Given the description of an element on the screen output the (x, y) to click on. 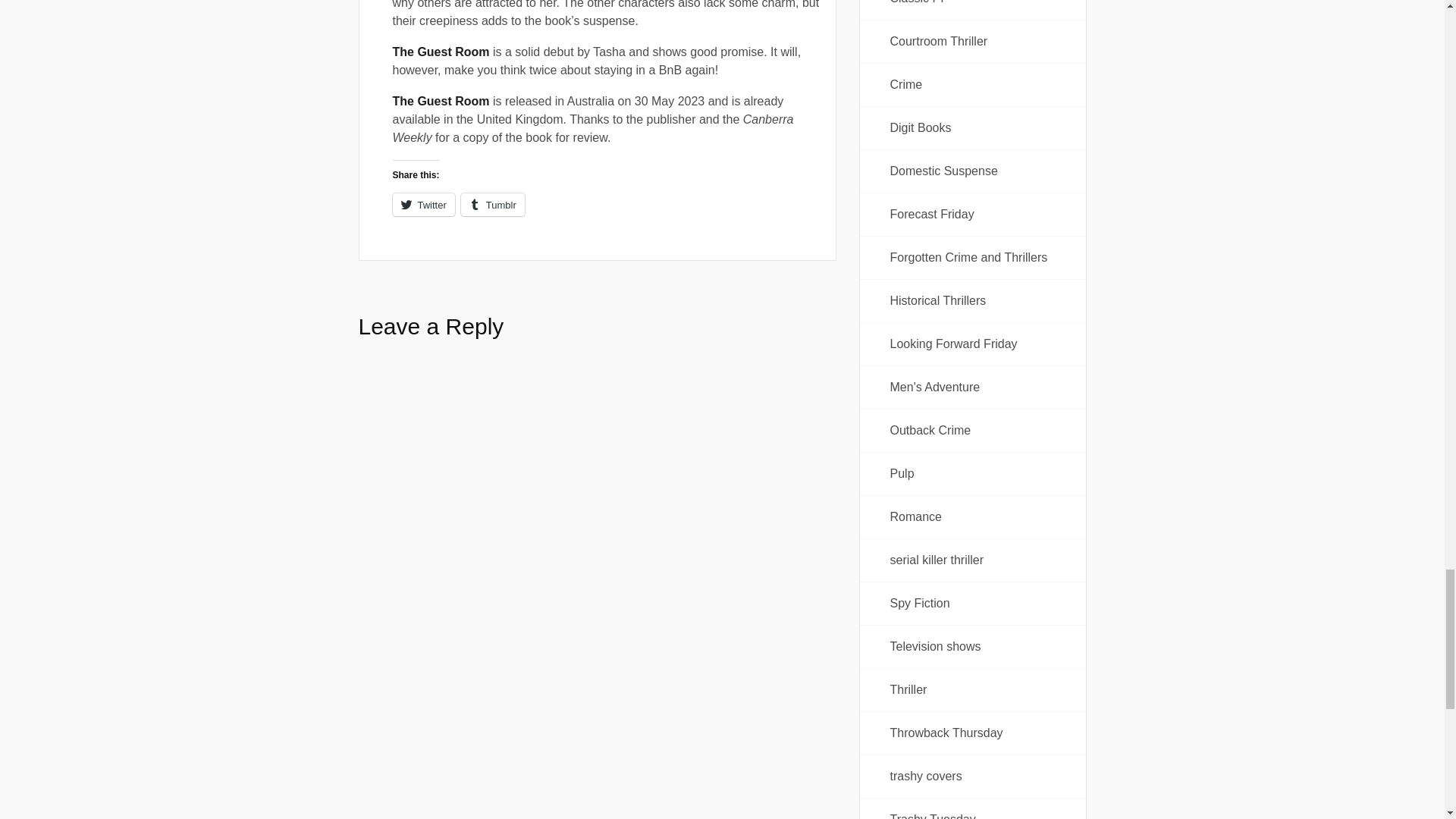
Click to share on Twitter (423, 204)
Click to share on Tumblr (492, 204)
